Given the description of an element on the screen output the (x, y) to click on. 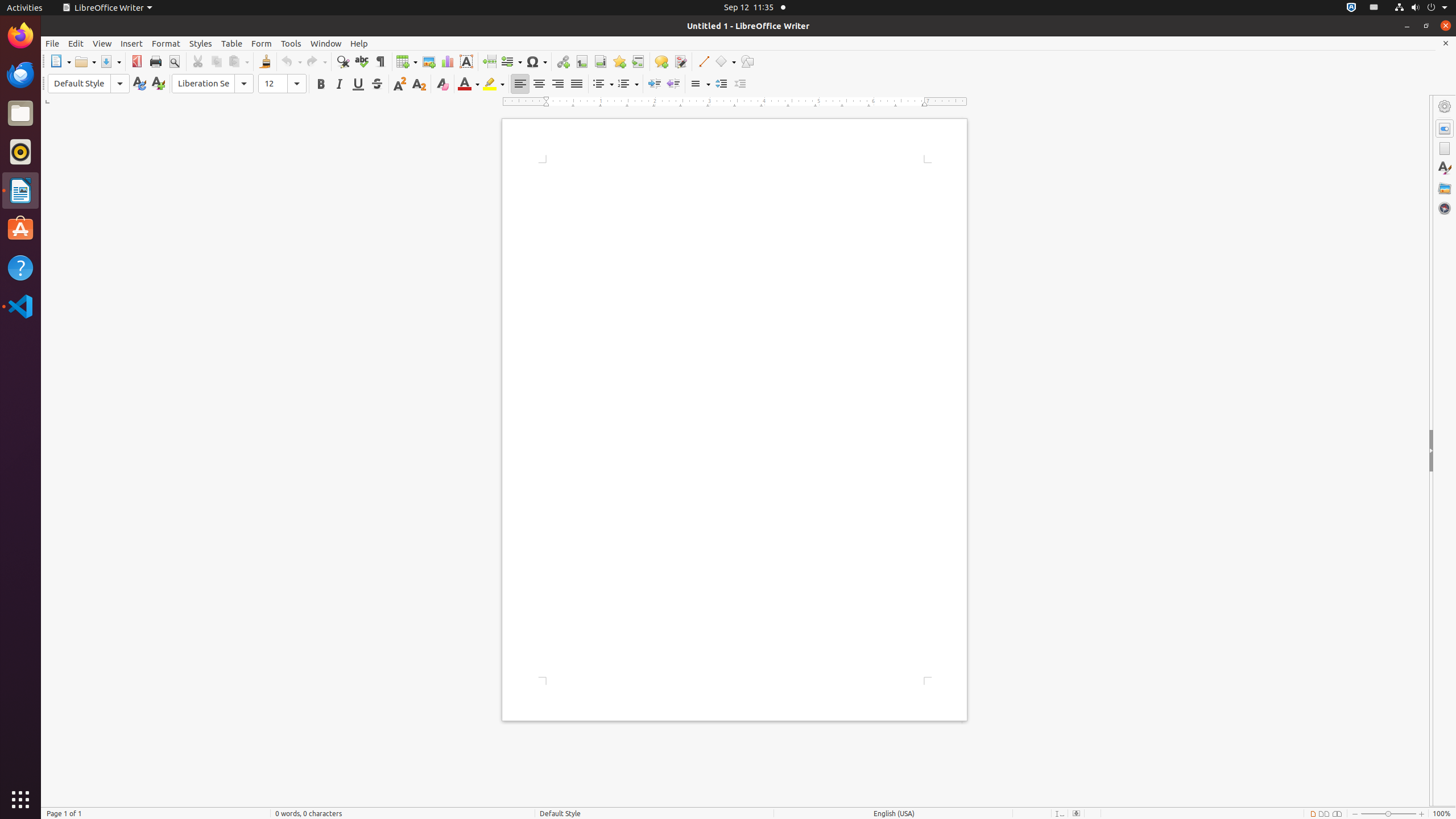
org.kde.StatusNotifierItem-14077-1 Element type: menu (1373, 7)
Increase Element type: push-button (721, 83)
Chart Element type: push-button (446, 61)
Comment Element type: push-button (660, 61)
File Element type: menu (51, 43)
